Given the description of an element on the screen output the (x, y) to click on. 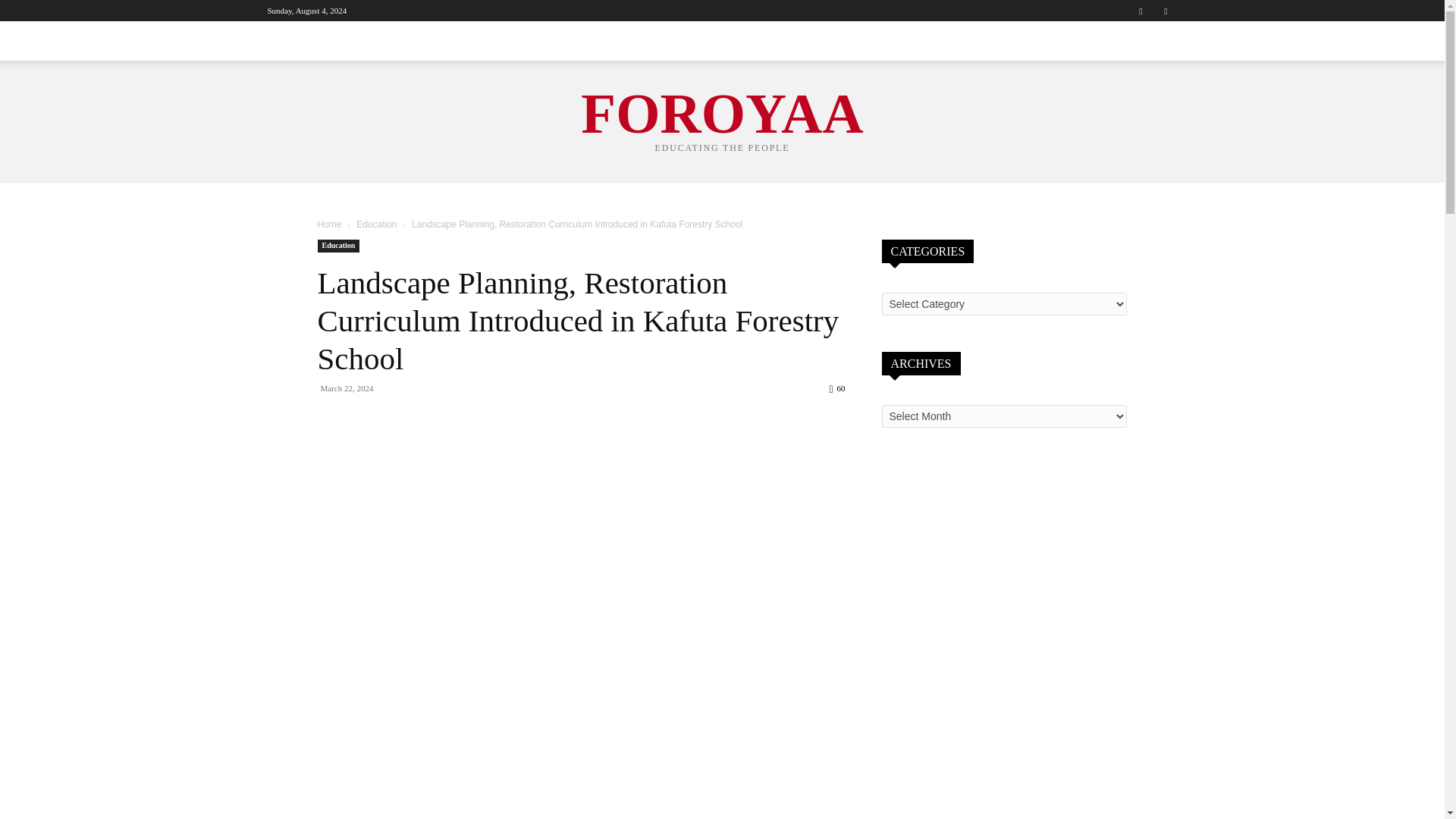
ALL NEWS (296, 40)
Twitter (1165, 10)
Facebook (1140, 10)
